Given the description of an element on the screen output the (x, y) to click on. 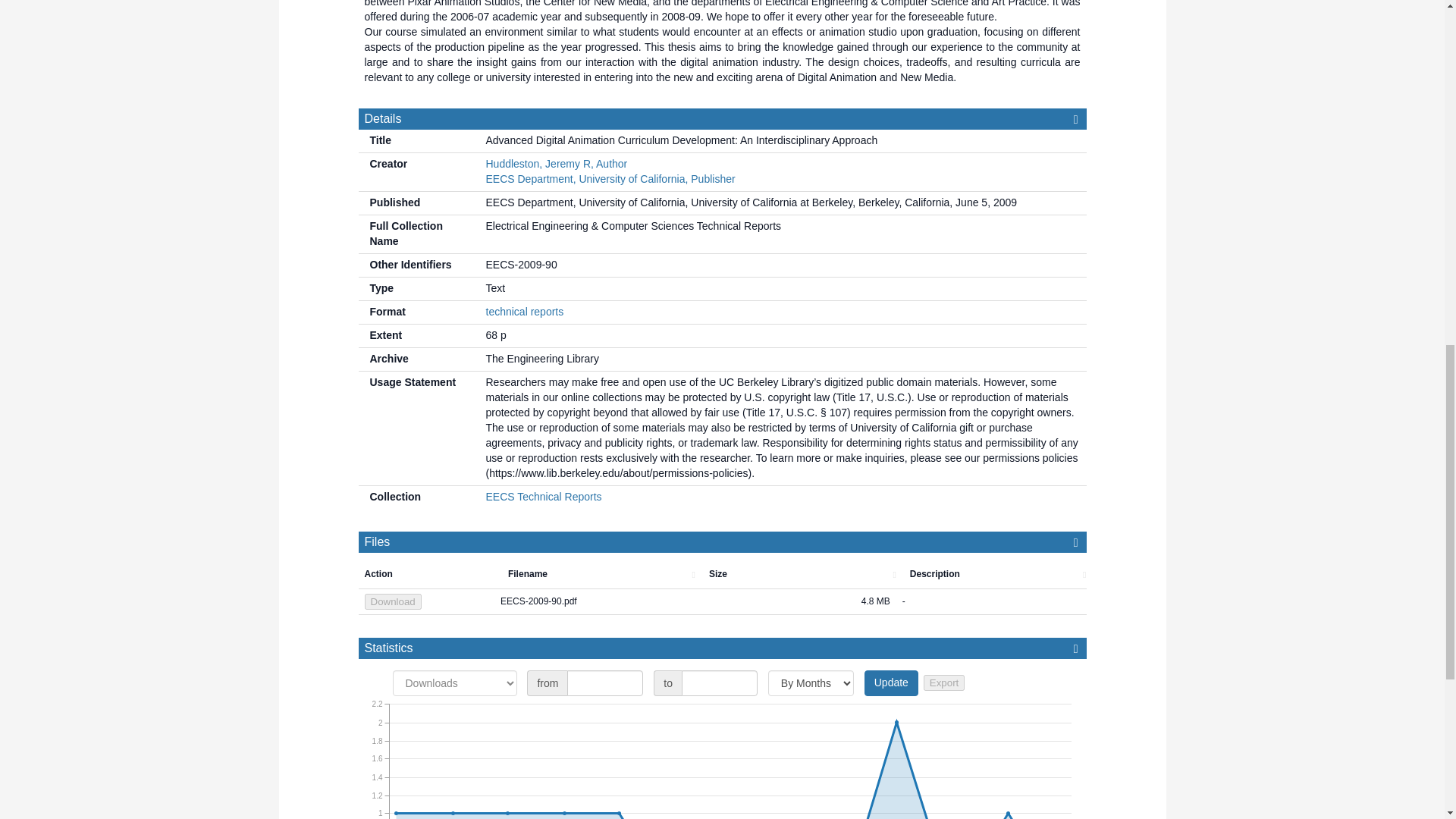
- (991, 601)
Update (891, 683)
Download EECS-2009-90.pdf 4.8 MB - (722, 601)
EECS-2009-90.pdf (595, 601)
Action Filename Size Description (727, 574)
Action Filename Size Description (722, 574)
4.8 MB (795, 601)
Huddleston, Jeremy R, Author (555, 163)
